Given the description of an element on the screen output the (x, y) to click on. 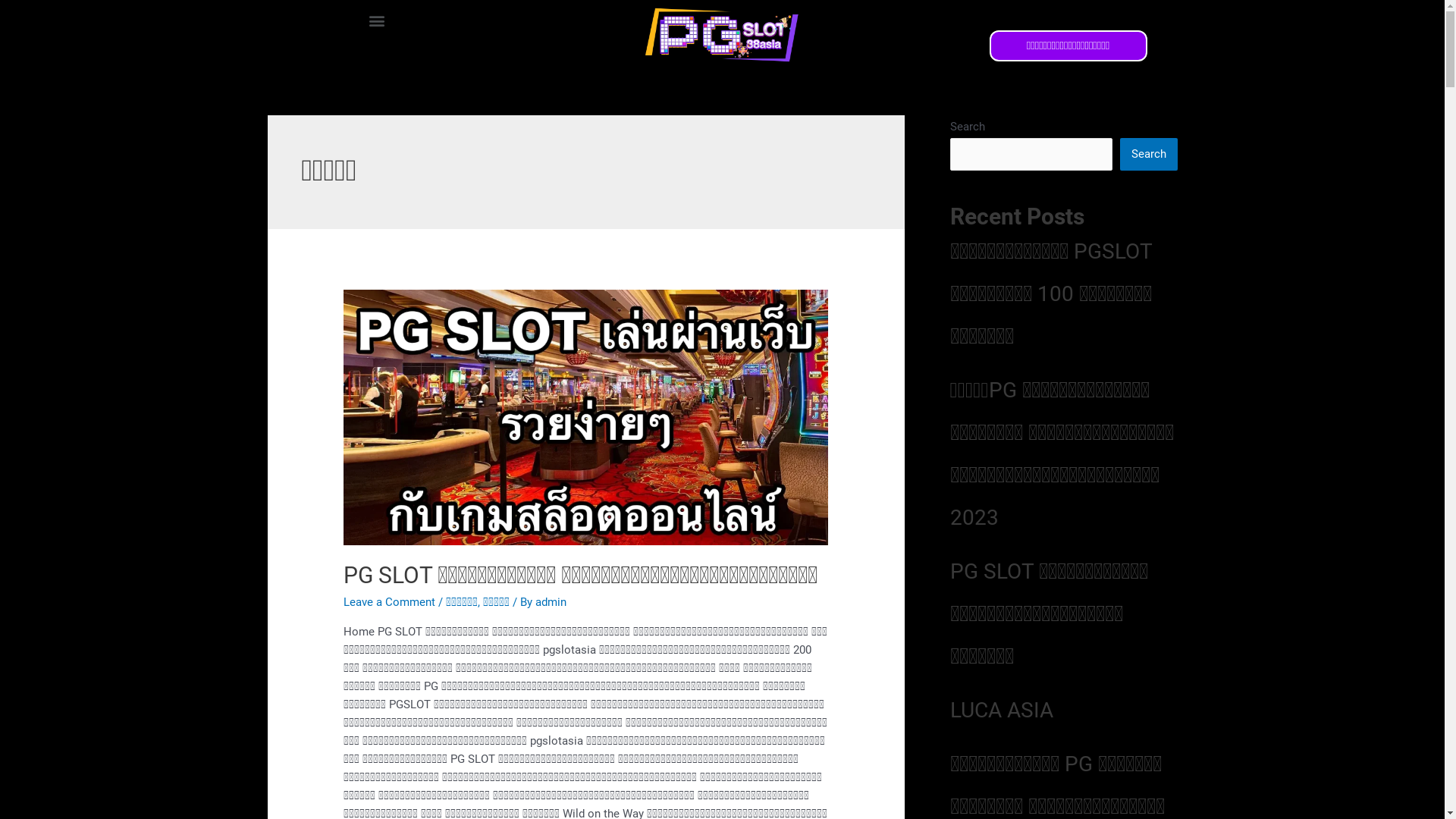
Leave a Comment Element type: text (389, 601)
Search Element type: text (1147, 154)
admin Element type: text (550, 601)
LUCA ASIA Element type: text (1000, 709)
